Given the description of an element on the screen output the (x, y) to click on. 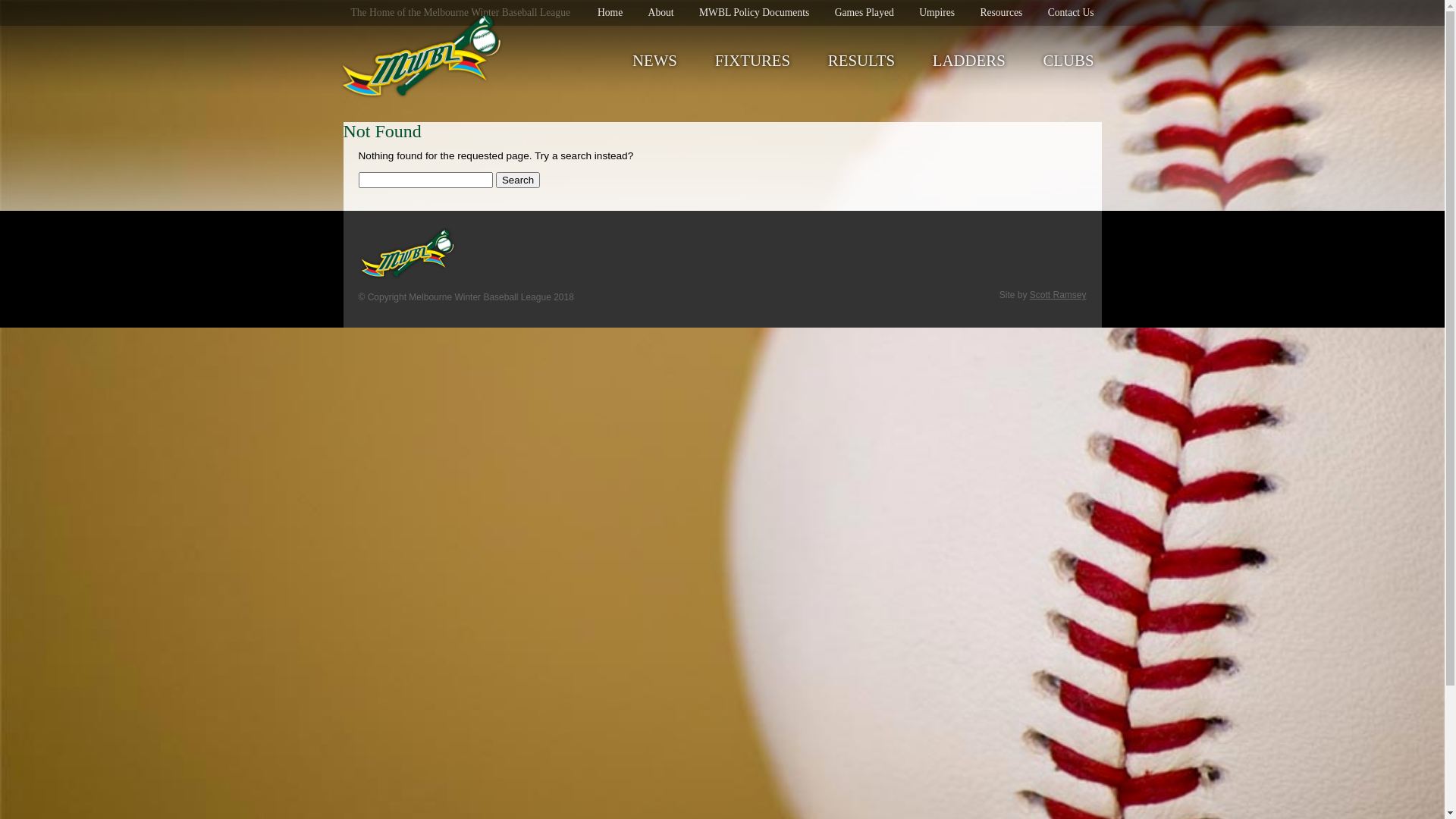
Melbourne Winter Baseball League Element type: text (421, 57)
LADDERS Element type: text (968, 60)
Scott Ramsey Element type: text (1057, 294)
NEWS Element type: text (654, 60)
FIXTURES Element type: text (752, 60)
Contact Us Element type: text (1071, 12)
About Element type: text (661, 12)
Umpires Element type: text (936, 12)
Games Played Element type: text (864, 12)
Home Element type: text (609, 12)
RESULTS Element type: text (861, 60)
Resources Element type: text (1000, 12)
MWBL Policy Documents Element type: text (754, 12)
Search Element type: text (517, 180)
CLUBS Element type: text (1067, 60)
